Given the description of an element on the screen output the (x, y) to click on. 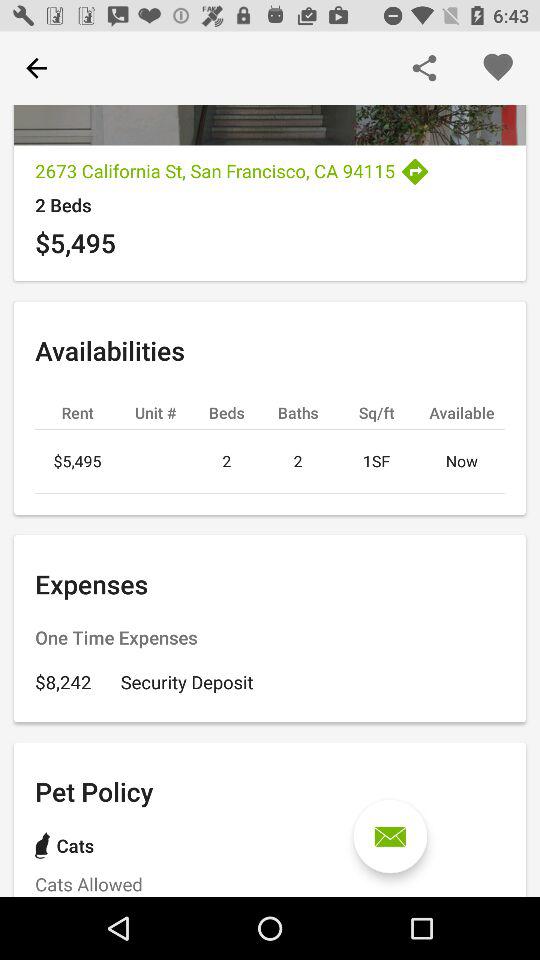
go back to previous screen (36, 68)
